Given the description of an element on the screen output the (x, y) to click on. 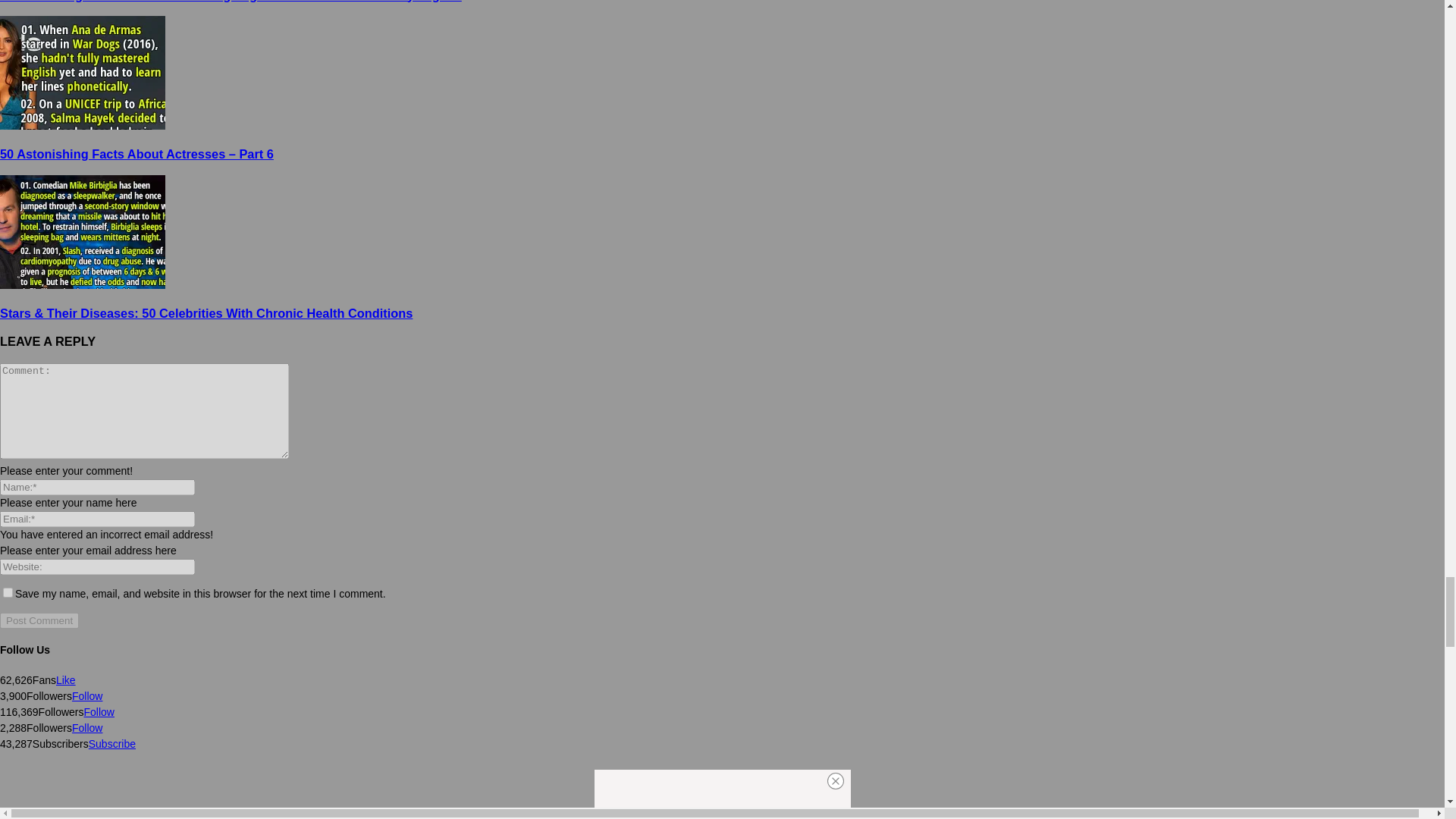
yes (7, 592)
Post Comment (39, 620)
